Given the description of an element on the screen output the (x, y) to click on. 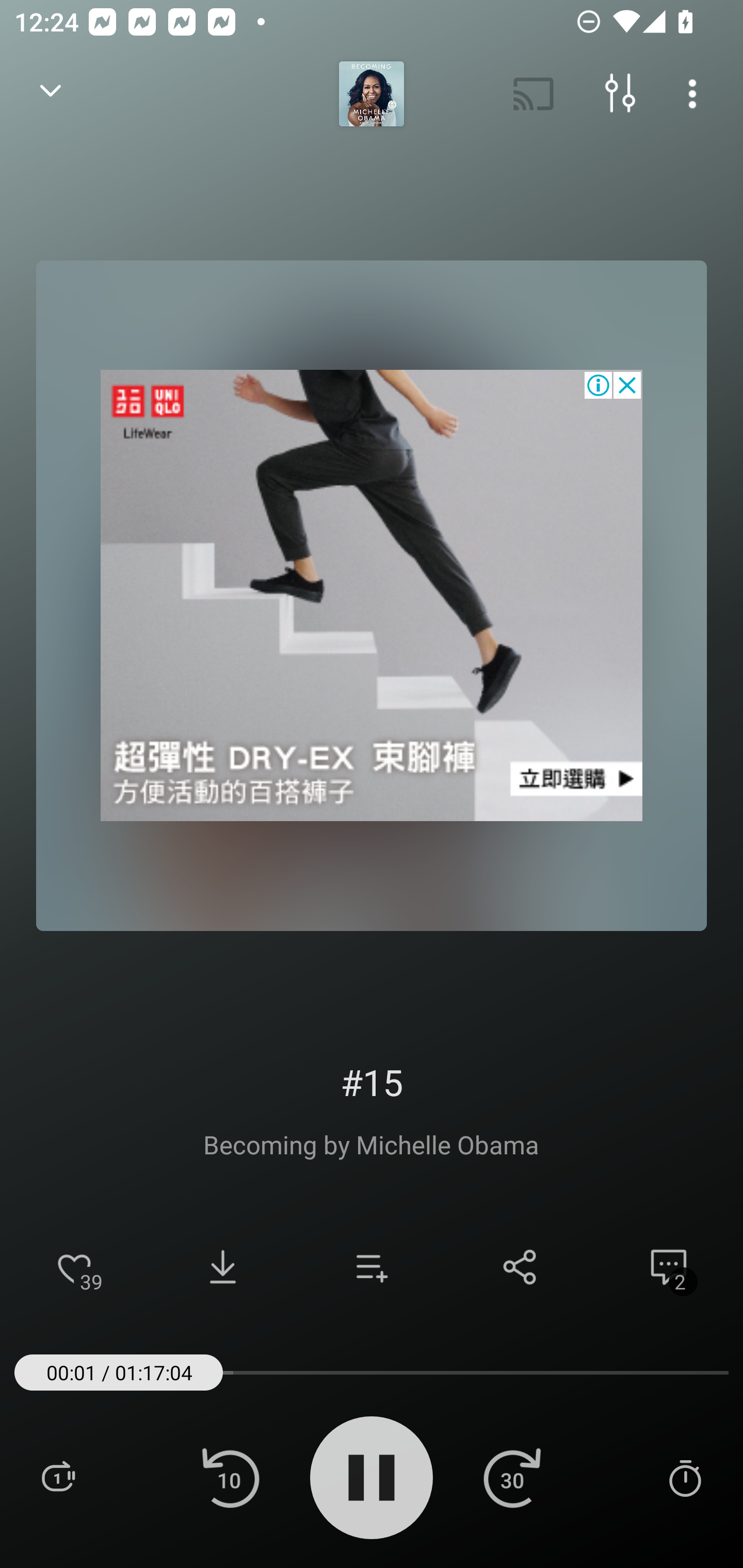
Cast. Disconnected (533, 93)
 Back (50, 94)
#15 (370, 1081)
Becoming by Michelle Obama (371, 1144)
2 Comments (668, 1266)
Add to Favorites (73, 1266)
Add to playlist (371, 1266)
Share (519, 1266)
 Playlist (57, 1477)
Sleep Timer  (684, 1477)
